Given the description of an element on the screen output the (x, y) to click on. 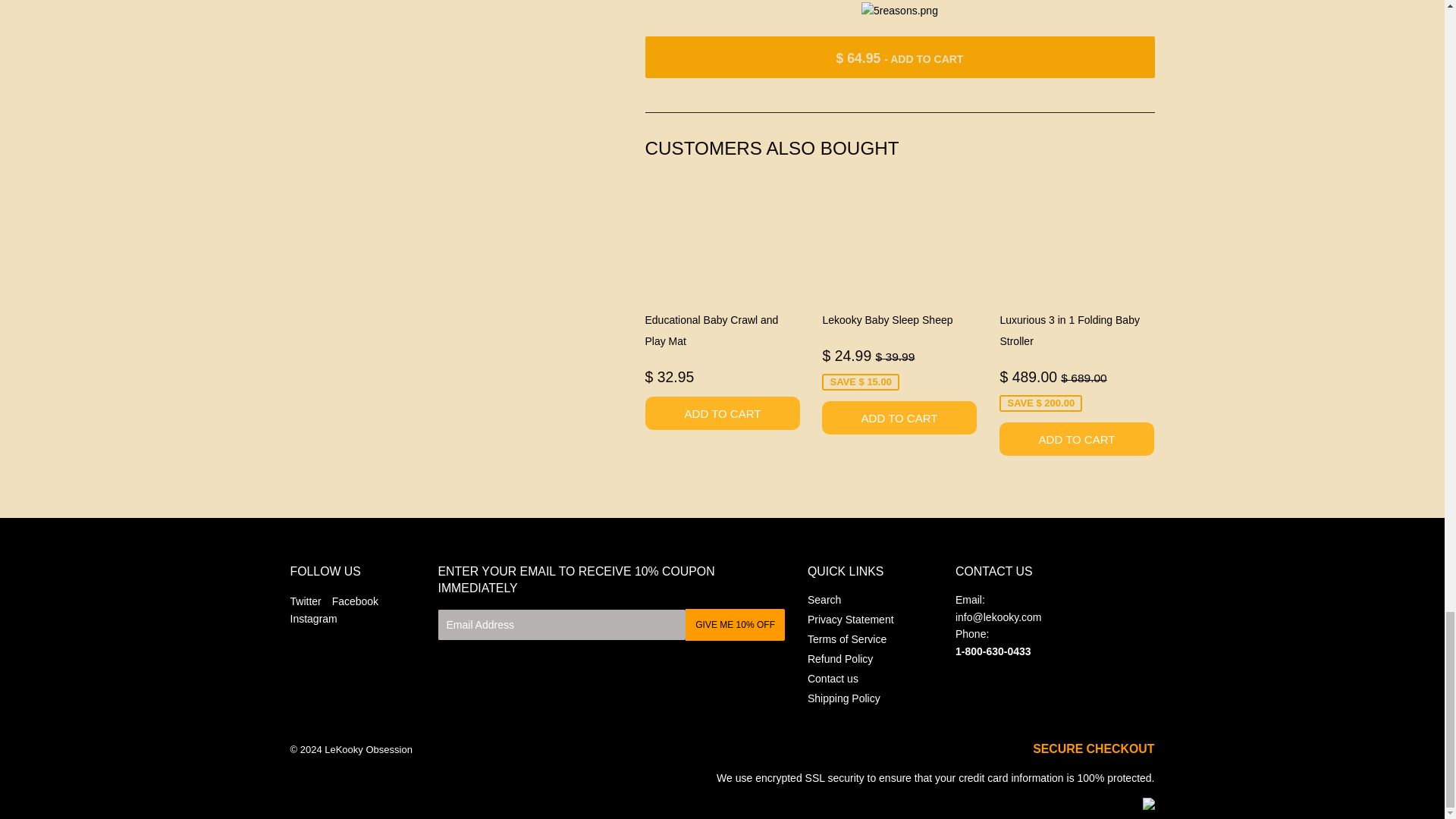
tel:1-800-630-0433 (992, 651)
LeKooky Obsession on Twitter (304, 601)
LeKooky Obsession on Facebook (354, 601)
LeKooky Obsession on Instagram (312, 618)
